Given the description of an element on the screen output the (x, y) to click on. 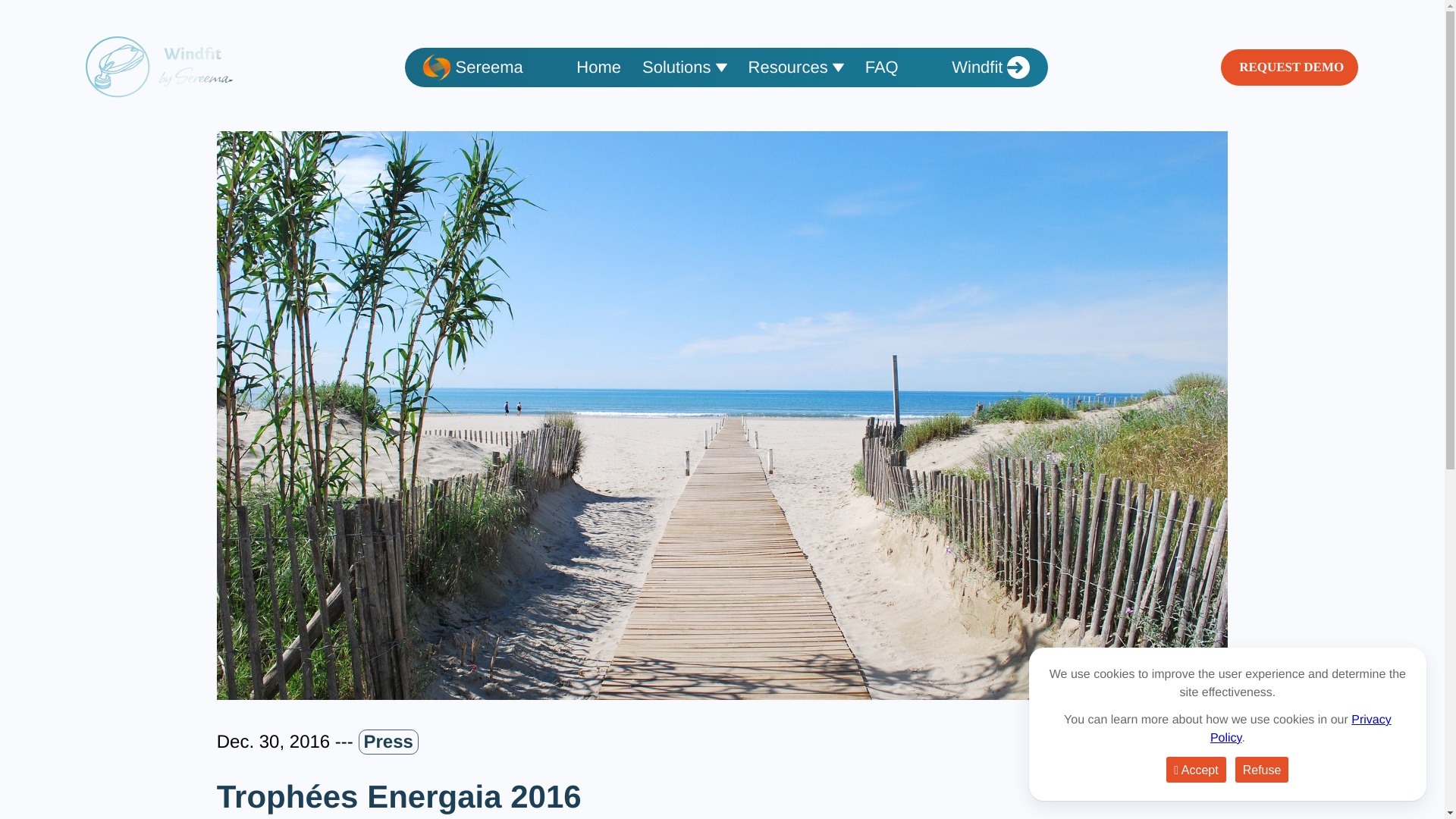
Privacy Policy (1300, 728)
Windfit (990, 67)
Home (598, 66)
Sereema (472, 66)
REQUEST DEMO (1289, 67)
Refuse (1261, 769)
FAQ (881, 66)
